Given the description of an element on the screen output the (x, y) to click on. 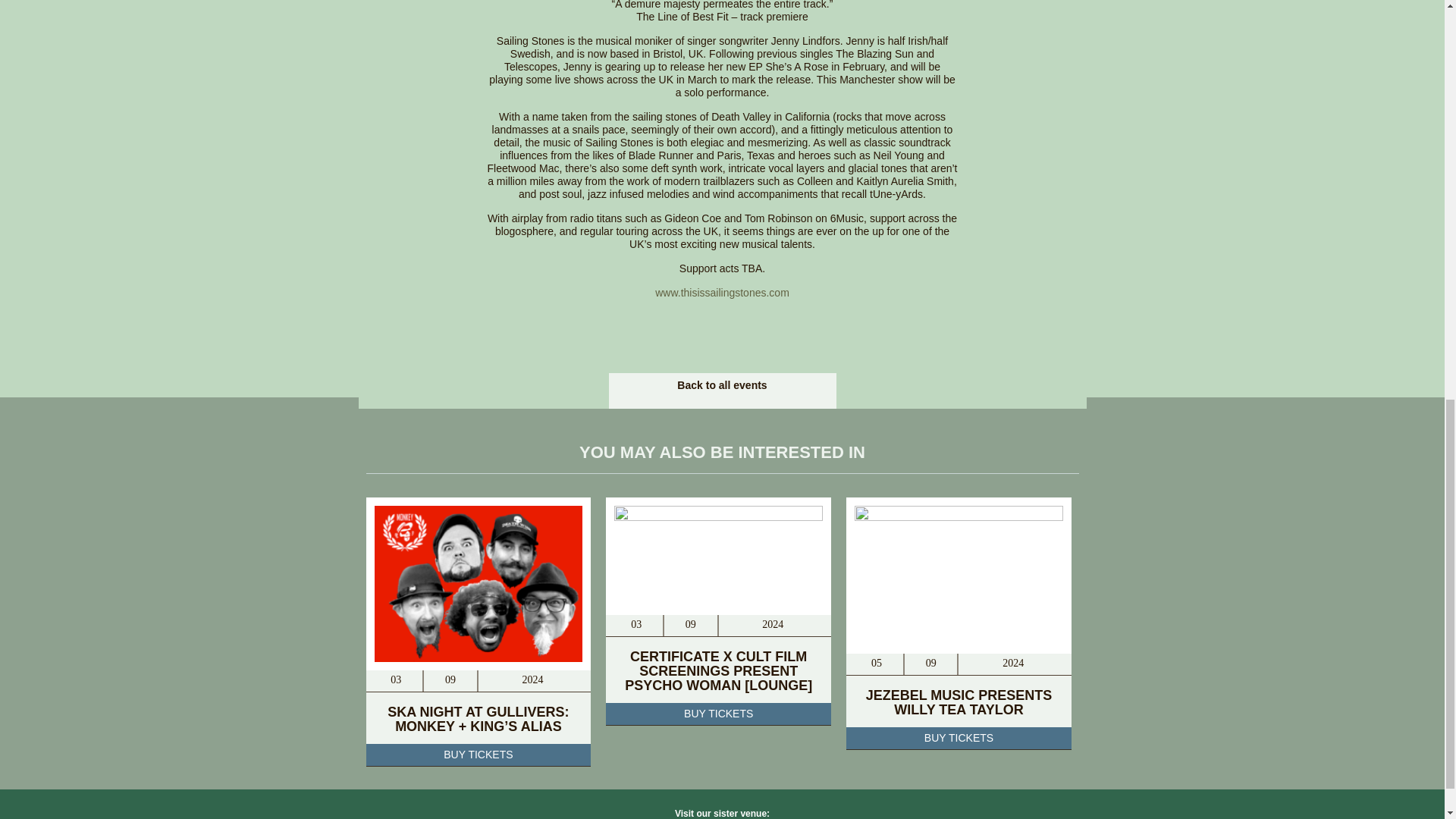
Back to all events (722, 385)
BUY TICKETS (958, 738)
BUY TICKETS (718, 713)
BUY TICKETS (478, 754)
www.thisissailingstones.com (722, 292)
JEZEBEL MUSIC PRESENTS WILLY TEA TAYLOR (959, 702)
